Given the description of an element on the screen output the (x, y) to click on. 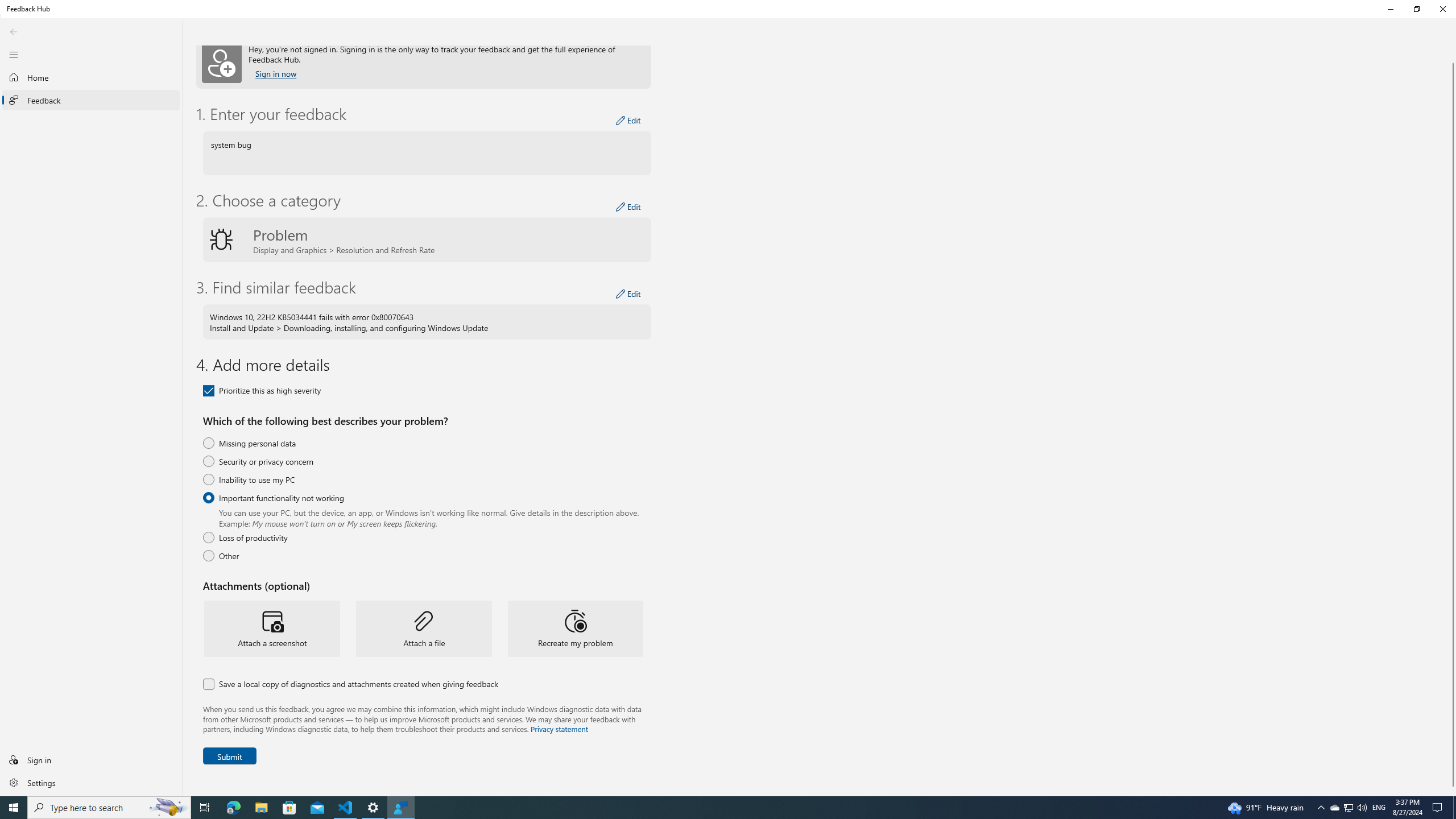
Search highlights icon opens search home window (167, 807)
Vertical Large Decrease (1452, 56)
Attach a file. Will open a file dialog. (424, 628)
Restore Feedback Hub (1416, 9)
Settings - 1 running window (373, 807)
Type here to search (1347, 807)
Microsoft Edge (108, 807)
Action Center, No new notifications (233, 807)
Vertical Small Increase (1439, 807)
